Given the description of an element on the screen output the (x, y) to click on. 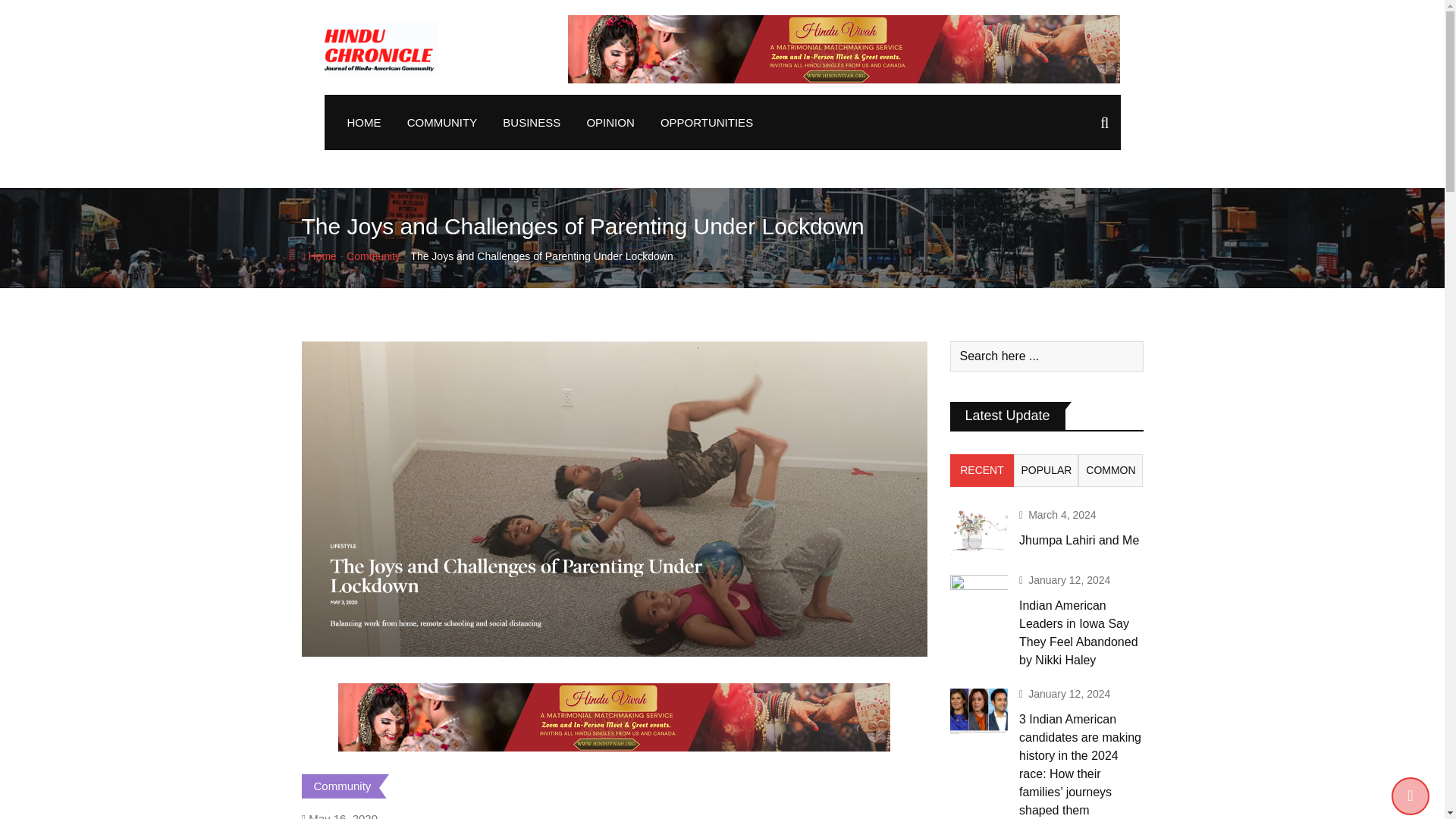
OPPORTUNITIES (706, 122)
COMMUNITY (442, 122)
OPINION (610, 122)
HOME (362, 122)
Jhumpa Lahiri and Me (978, 532)
BUSINESS (532, 122)
